Given the description of an element on the screen output the (x, y) to click on. 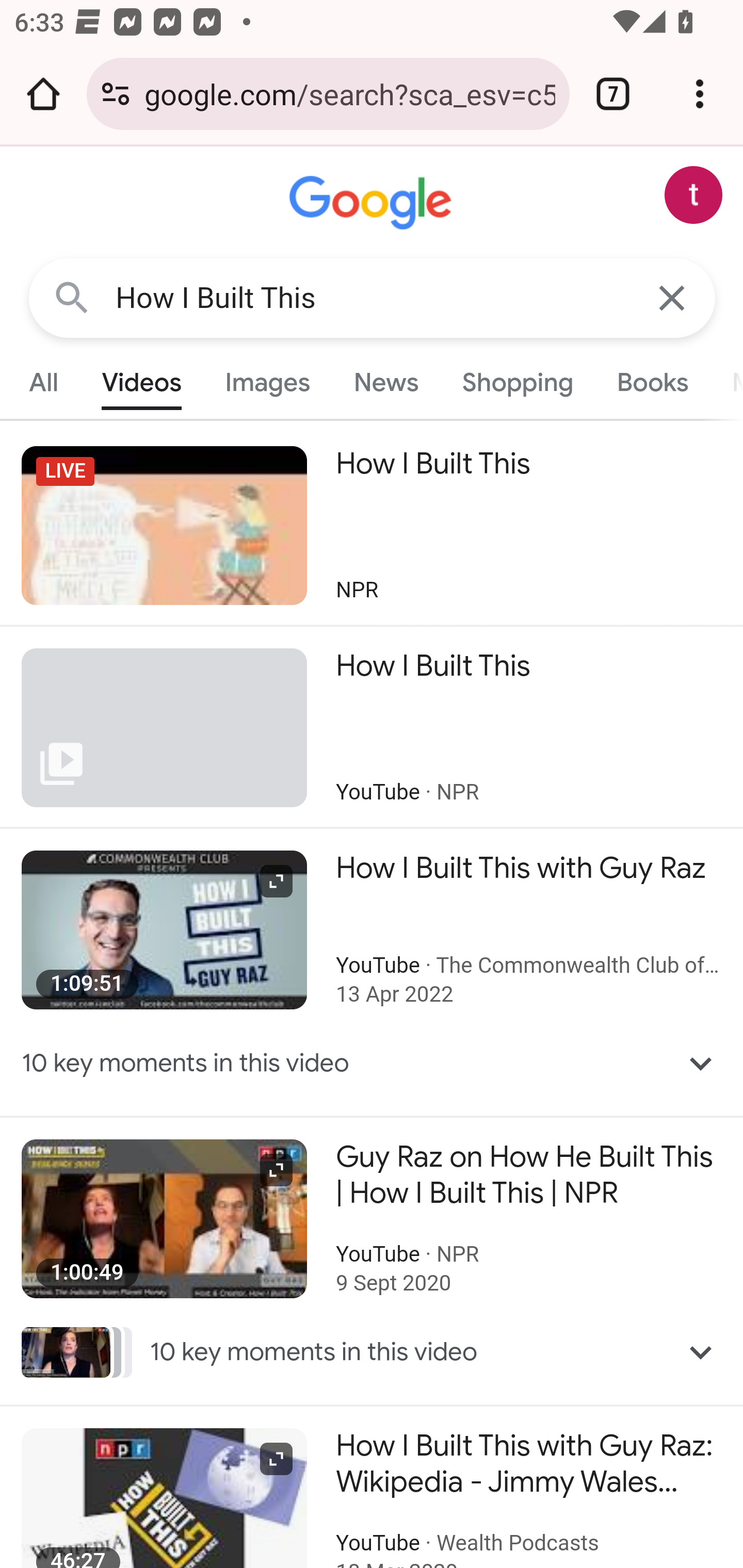
Open the home page (43, 93)
Connection is secure (115, 93)
Switch or close tabs (612, 93)
Customize and control Google Chrome (699, 93)
Google (372, 203)
Google Search (71, 296)
Clear Search (672, 296)
How I Built This (372, 297)
All (43, 382)
Images (267, 382)
News (385, 382)
Shopping (516, 382)
Books (652, 382)
10 key moments in this video (372, 1062)
10 key moments in this video (372, 1352)
